Given the description of an element on the screen output the (x, y) to click on. 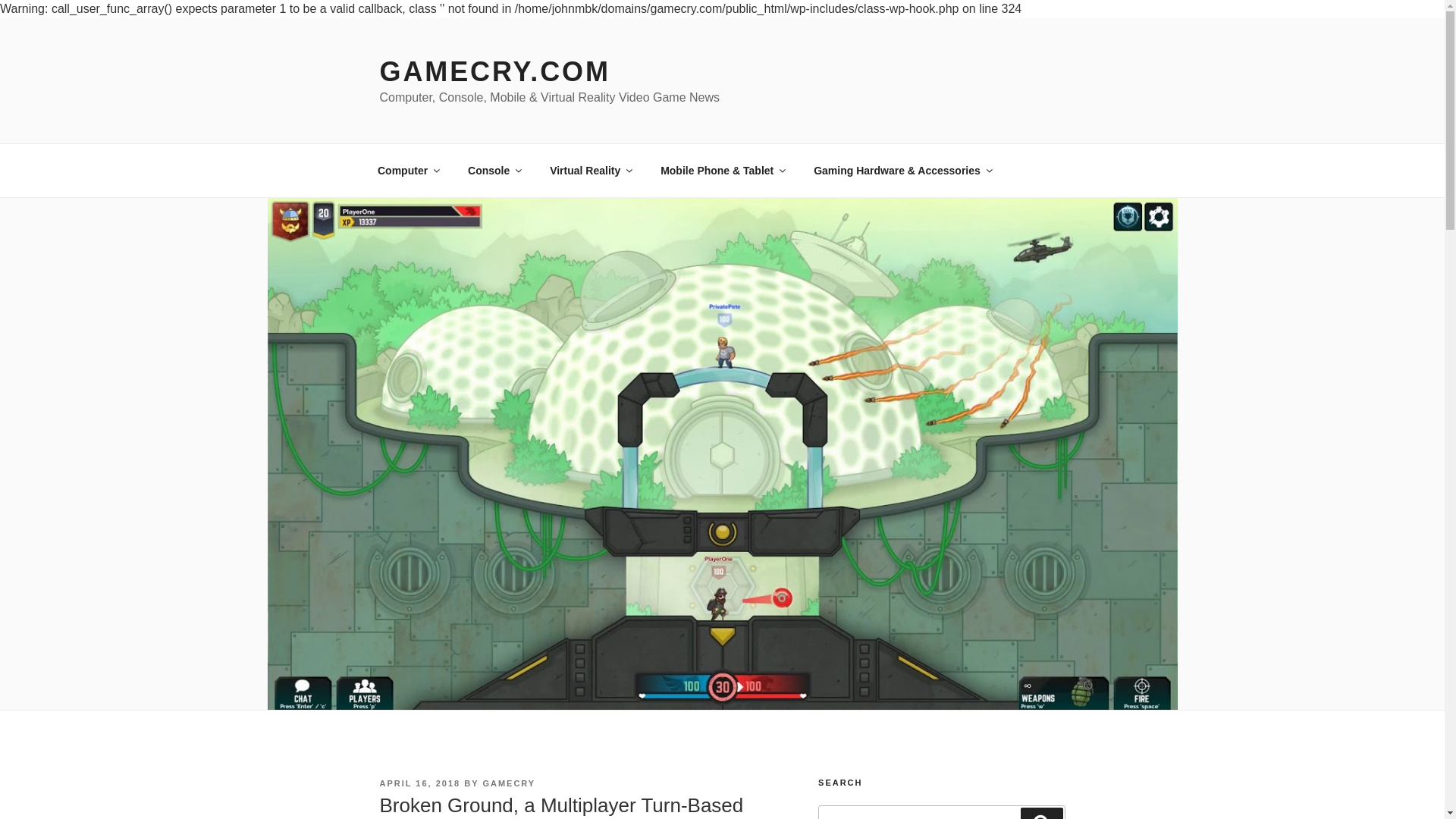
Virtual Reality (591, 170)
GAMECRY.COM (494, 71)
Computer (407, 170)
Console (494, 170)
